Given the description of an element on the screen output the (x, y) to click on. 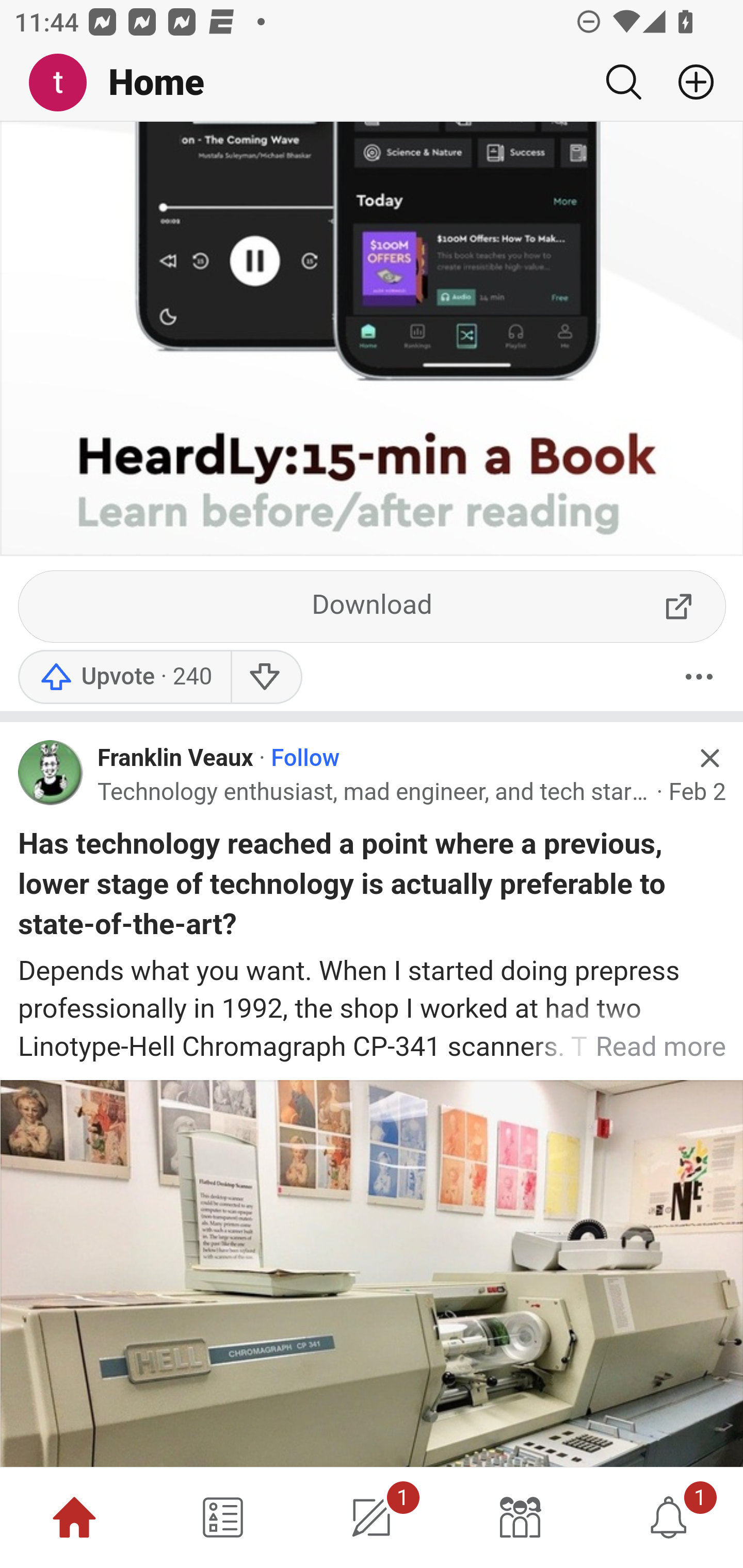
Me (64, 83)
Search (623, 82)
Add (688, 82)
Download ExternalLink (372, 608)
Upvote (124, 678)
Downvote (266, 678)
More (699, 678)
Hide (709, 759)
Profile photo for Franklin Veaux (50, 773)
Franklin Veaux (175, 761)
Follow (306, 761)
1 (371, 1517)
1 (668, 1517)
